Given the description of an element on the screen output the (x, y) to click on. 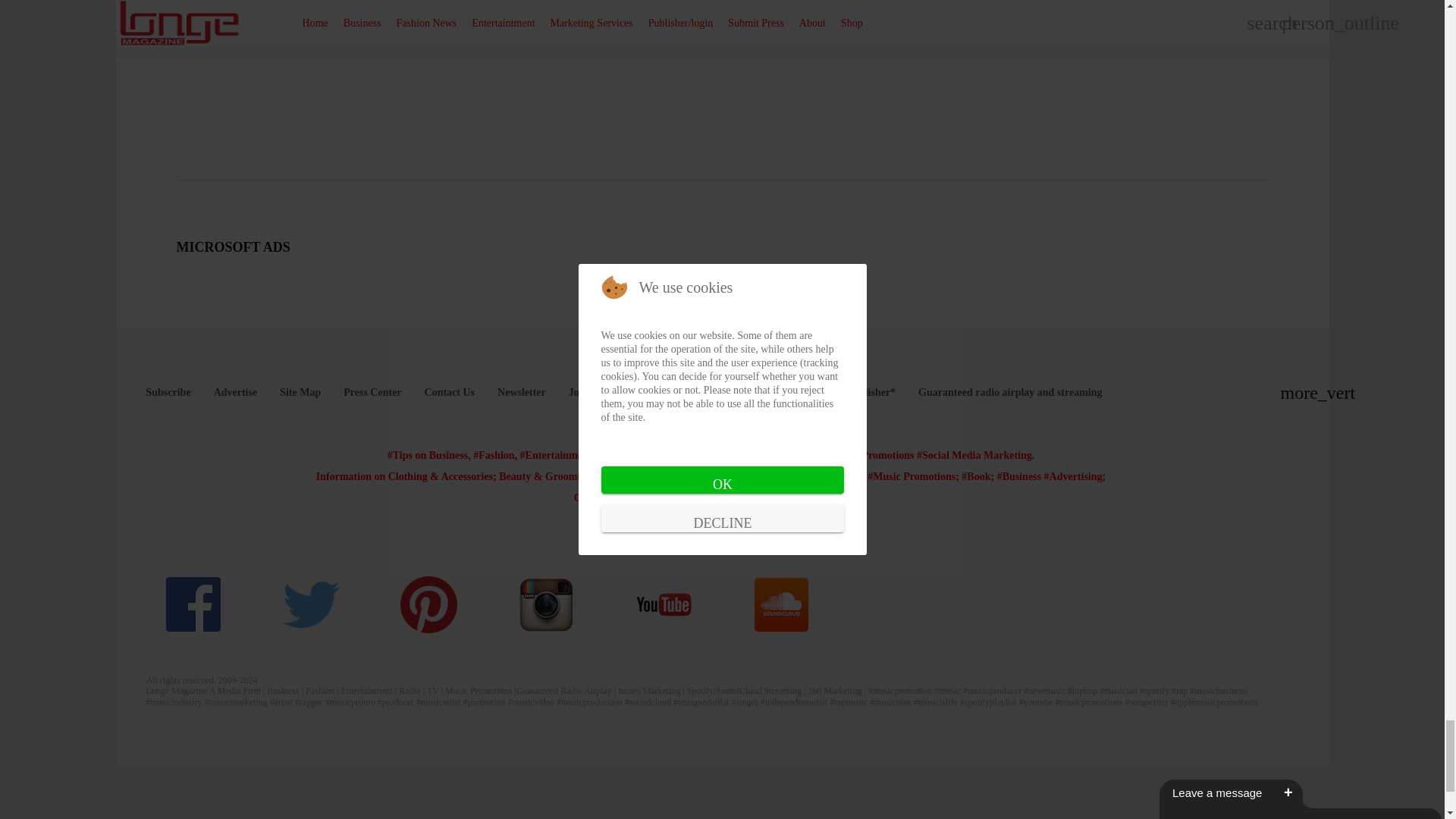
Facebook (193, 604)
